Given the description of an element on the screen output the (x, y) to click on. 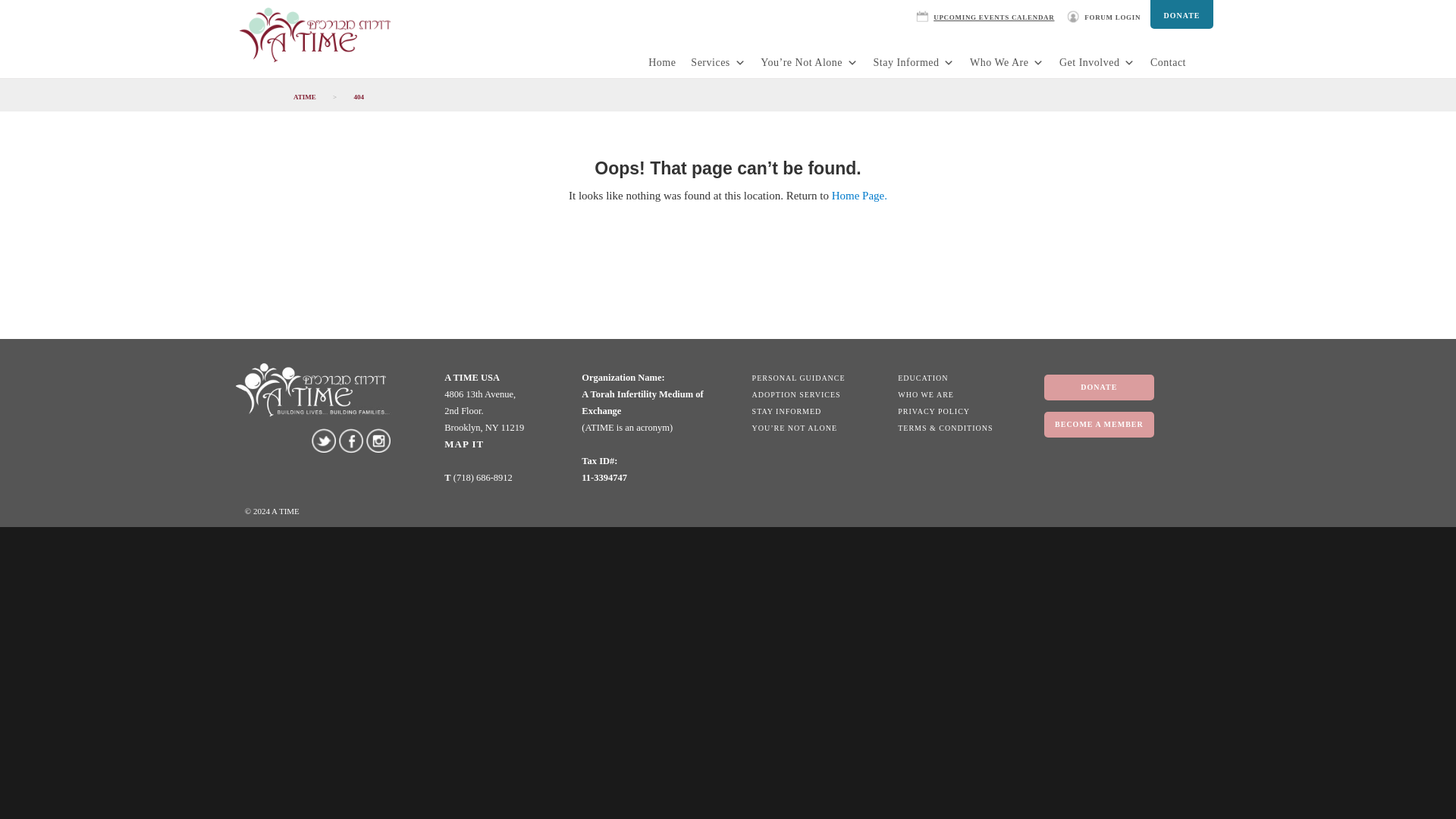
Go to ATime. (304, 96)
Facebook (350, 440)
Services (717, 62)
Home (661, 62)
Twitter (323, 439)
Twitter (323, 440)
UPCOMING EVENTS CALENDAR (988, 14)
Instagram (378, 439)
Facebook (351, 439)
DONATE (1181, 14)
FORUM LOGIN (1107, 14)
Instagram (378, 440)
Go to 404. (358, 96)
